Given the description of an element on the screen output the (x, y) to click on. 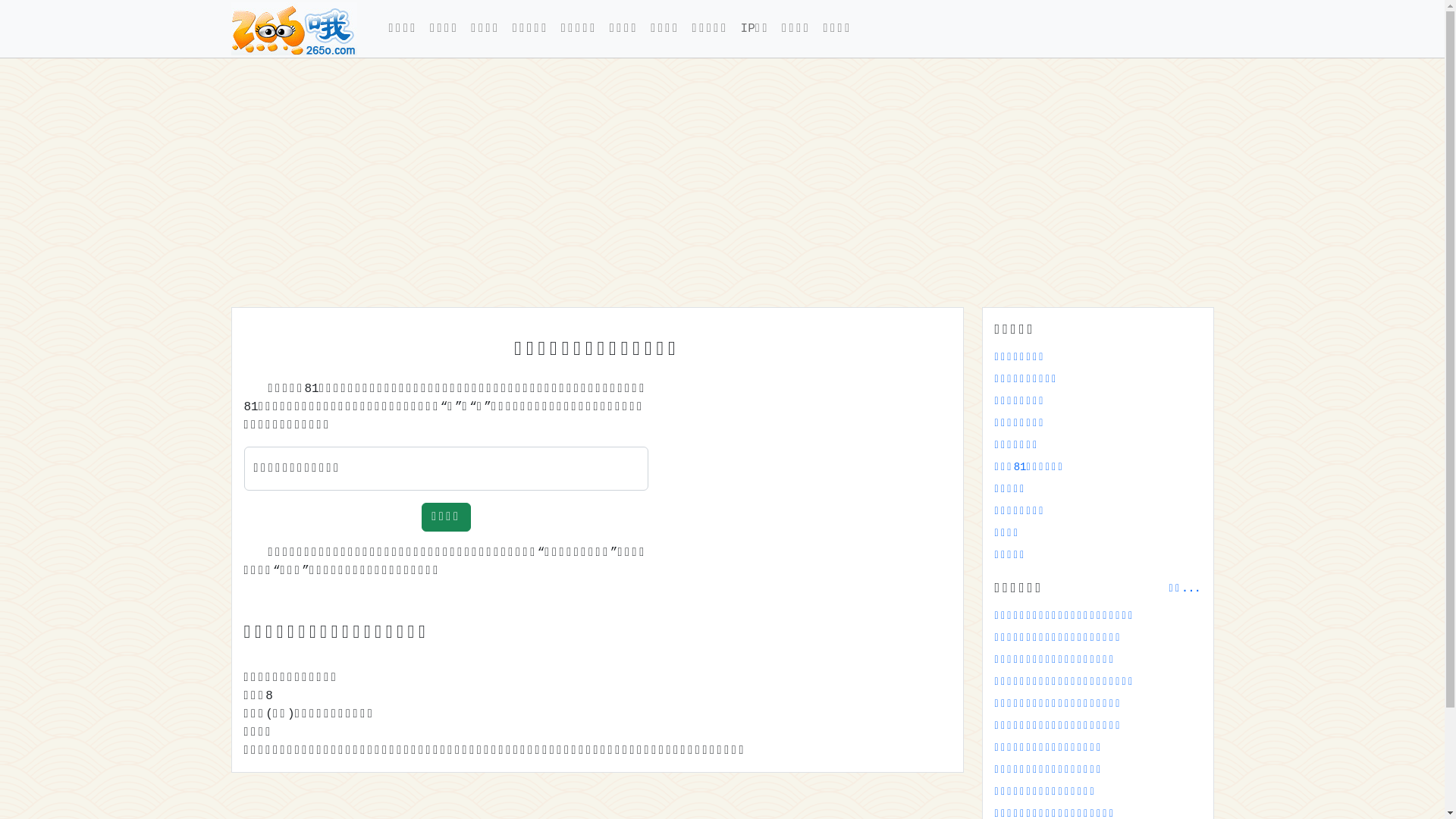
Advertisement Element type: hover (685, 182)
Advertisement Element type: hover (808, 485)
